Given the description of an element on the screen output the (x, y) to click on. 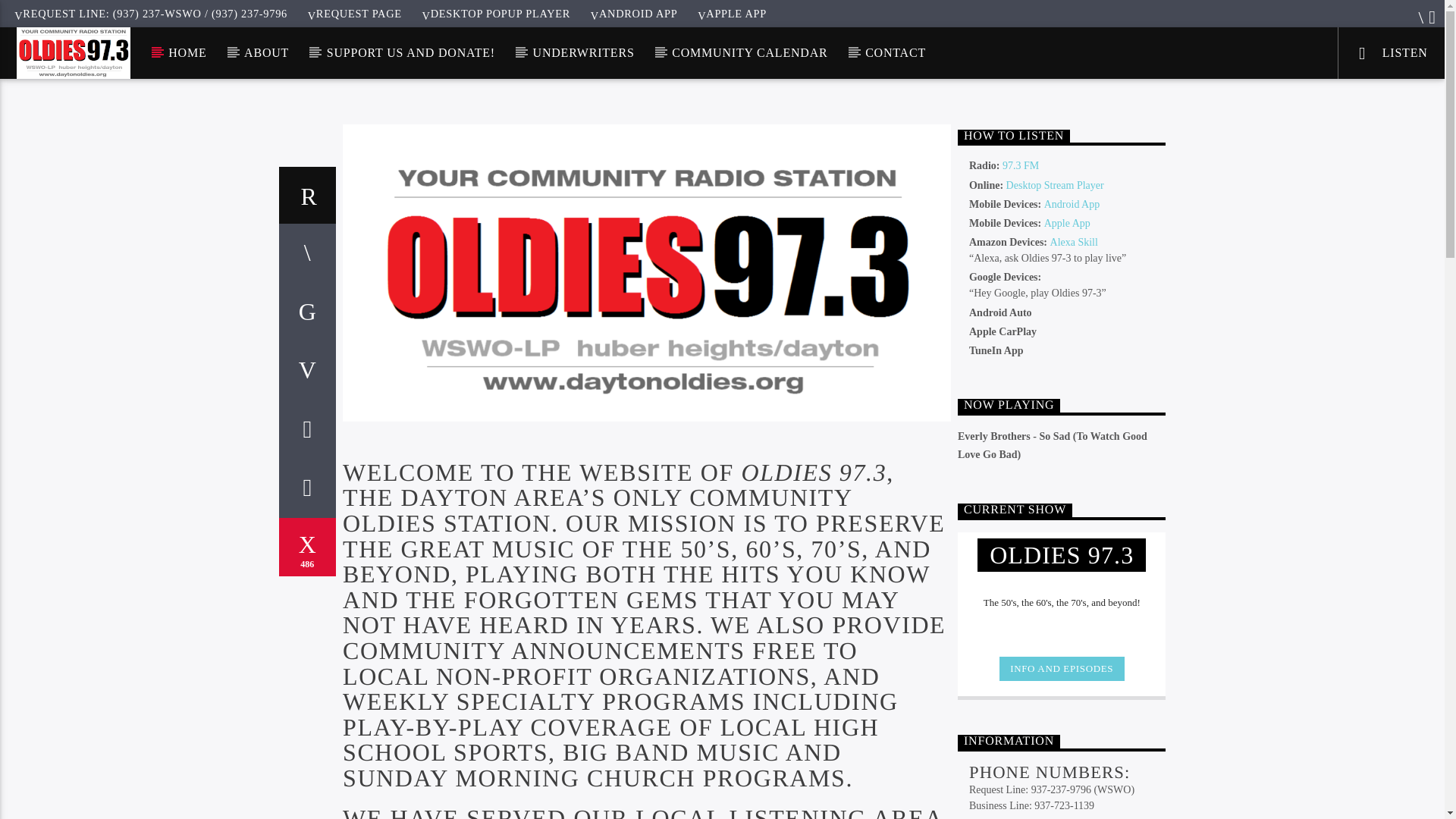
CONTACT (895, 52)
SUPPORT US AND DONATE! (410, 52)
REQUEST PAGE (354, 13)
ABOUT (266, 52)
ANDROID APP (634, 13)
UNDERWRITERS (582, 52)
COMMUNITY CALENDAR (749, 52)
HOME (187, 52)
APPLE APP (732, 13)
DESKTOP POPUP PLAYER (496, 13)
